Given the description of an element on the screen output the (x, y) to click on. 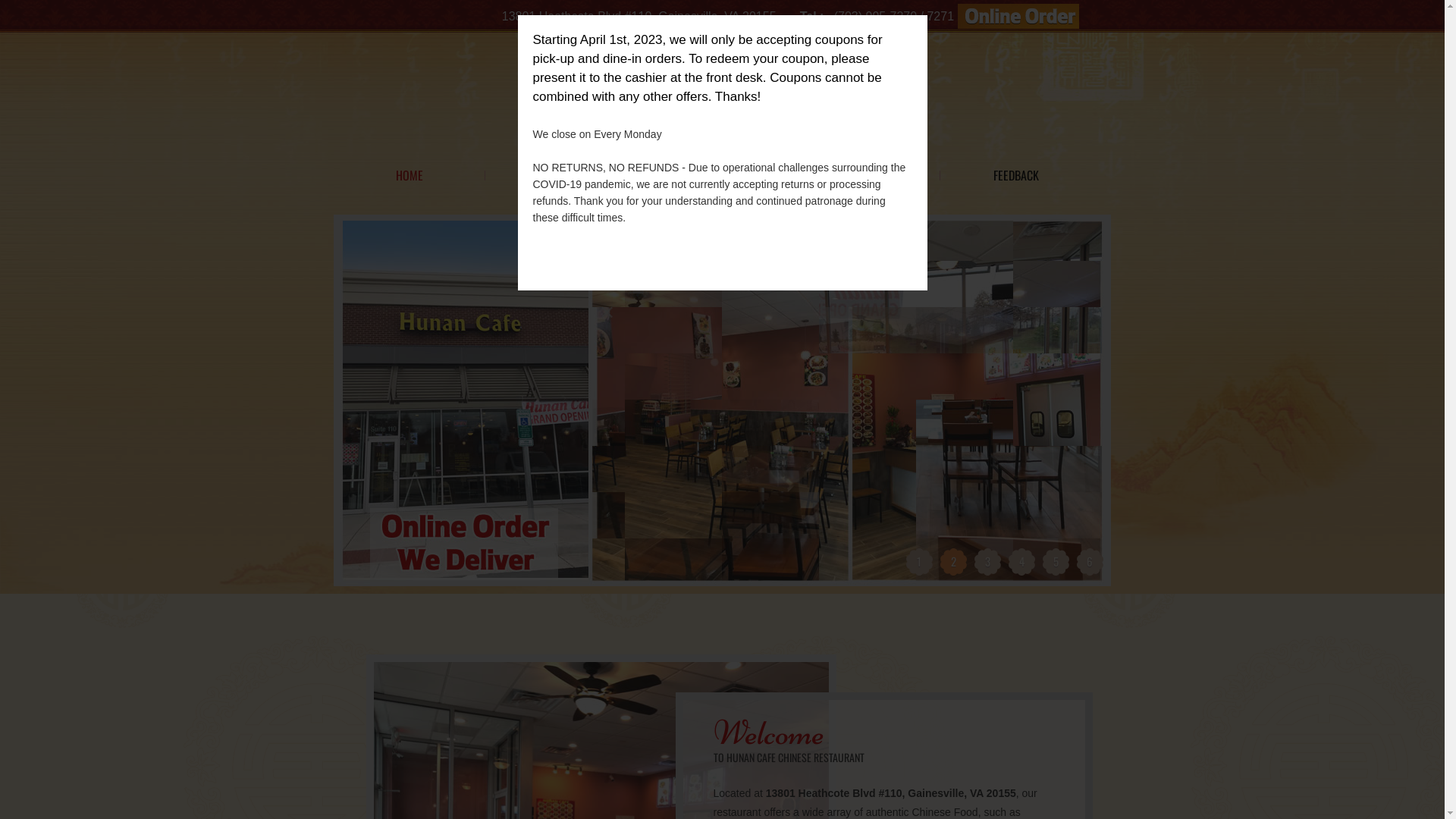
6 Element type: text (1089, 561)
3 Element type: text (986, 561)
HOME Element type: text (409, 175)
1 Element type: text (918, 561)
4 Element type: text (1021, 561)
FEEDBACK Element type: text (1016, 175)
MENU Element type: text (561, 175)
COUPON Element type: text (864, 175)
5 Element type: text (1054, 561)
MY ACCOUNT Element type: text (712, 175)
2 Element type: text (953, 561)
